Given the description of an element on the screen output the (x, y) to click on. 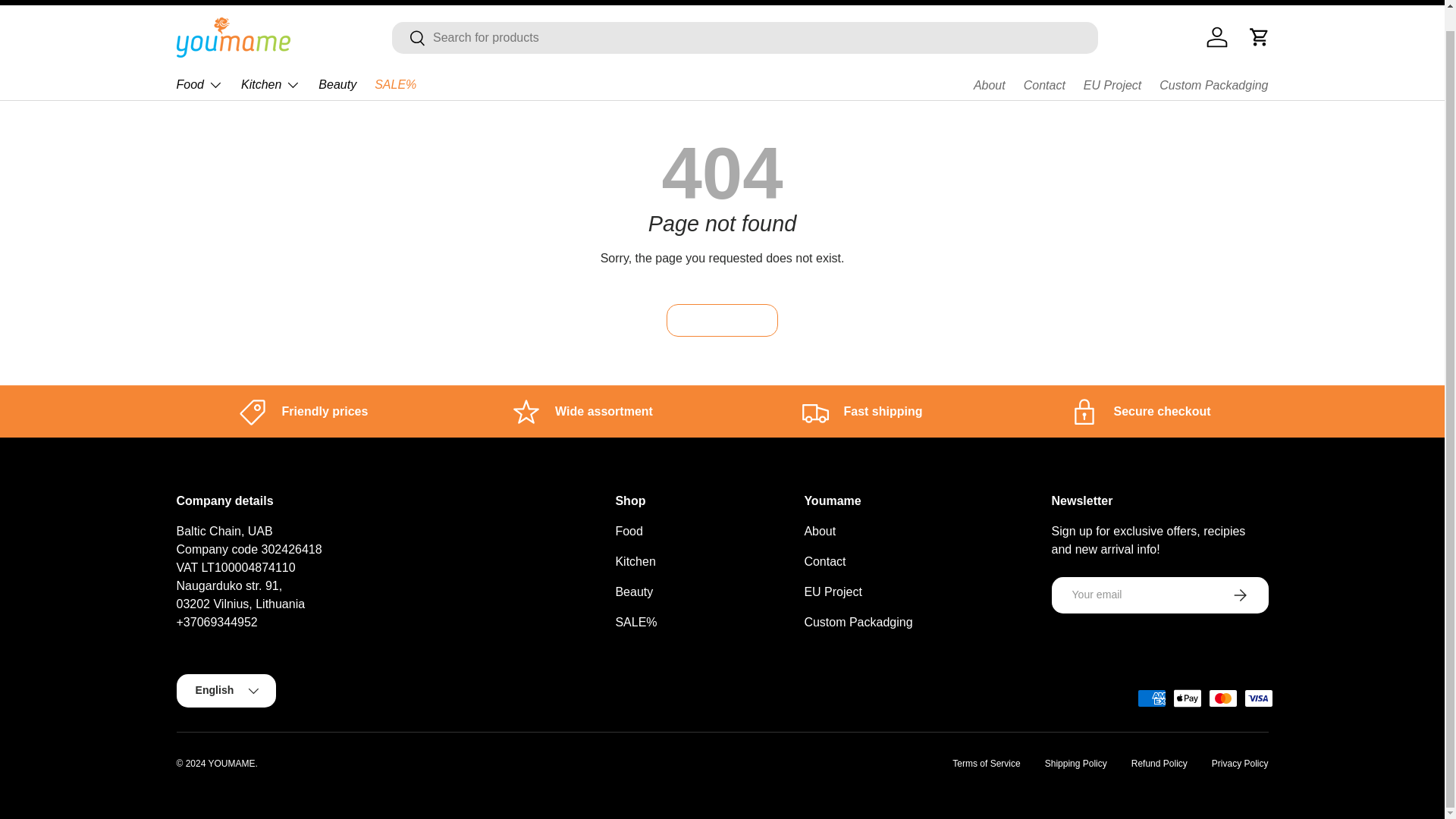
Log in (1216, 37)
Search (408, 38)
Cart (1258, 37)
Skip to content (68, 5)
English (1239, 0)
Food (199, 84)
